Given the description of an element on the screen output the (x, y) to click on. 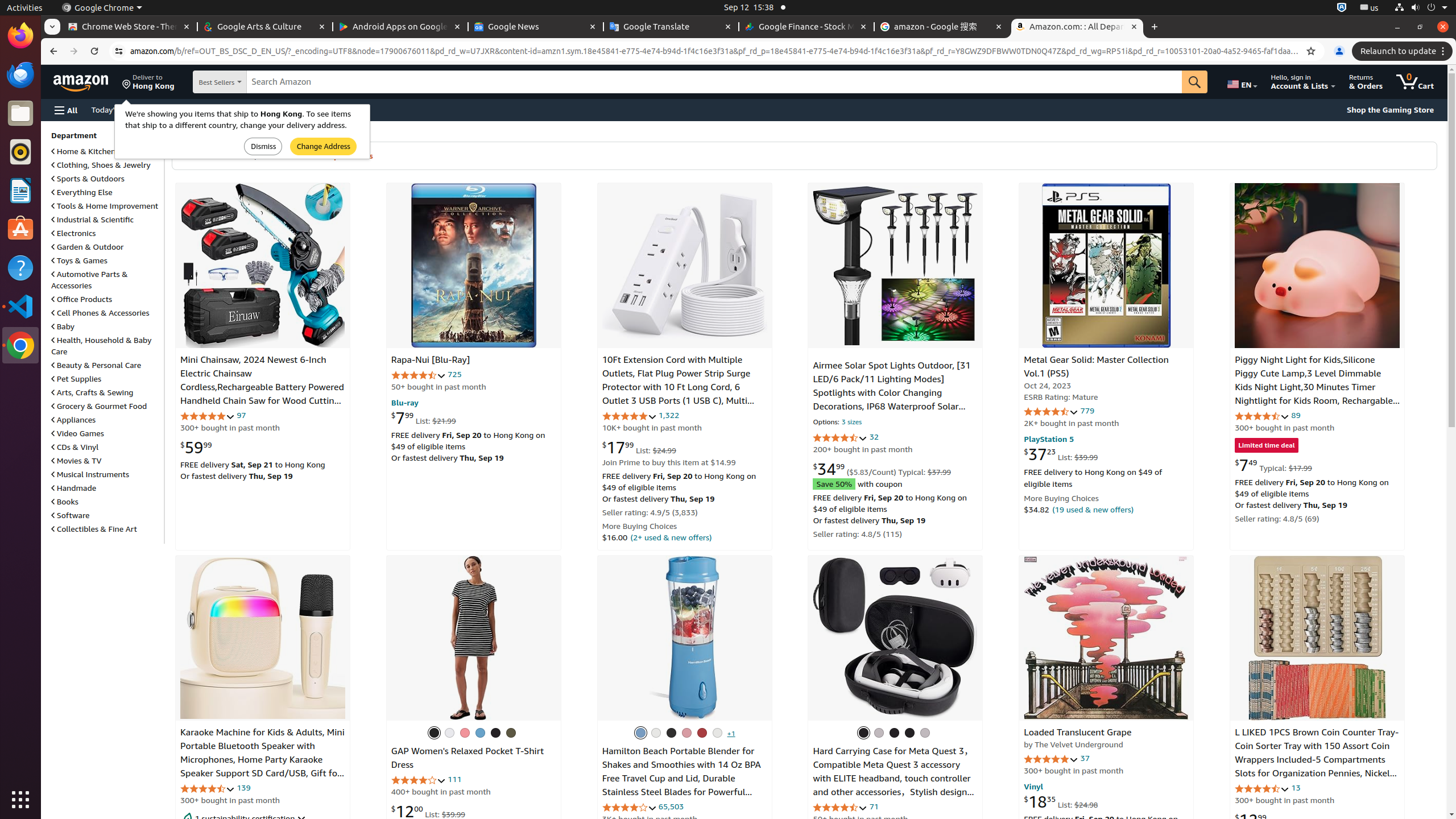
Tools & Home Improvement Element type: link (104, 205)
Forward Element type: push-button (73, 50)
Toys & Games Element type: link (79, 260)
4.3 out of 5 stars Element type: push-button (839, 437)
PlayStation 5 Element type: link (1048, 438)
